Given the description of an element on the screen output the (x, y) to click on. 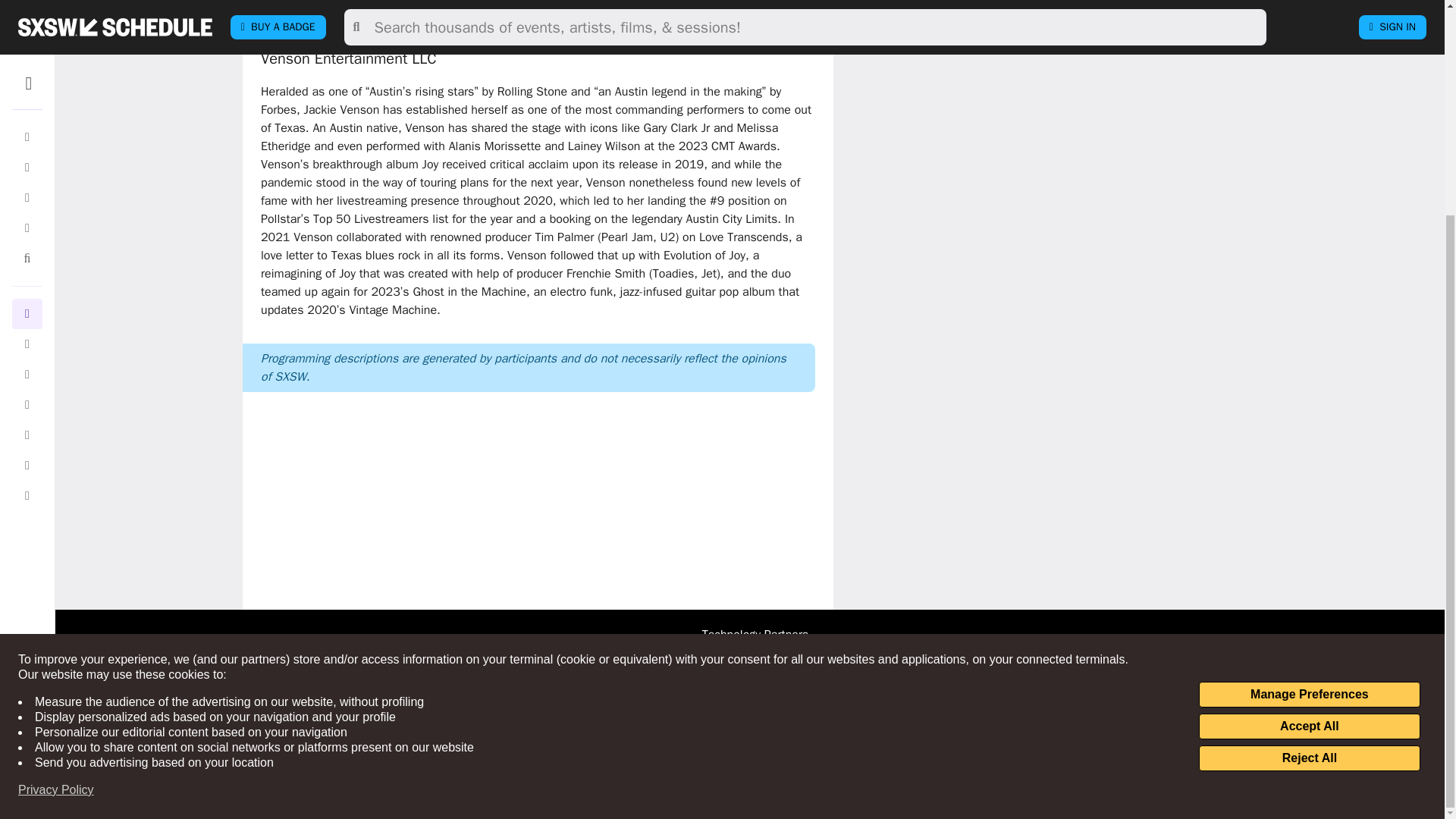
Accept All (1309, 444)
Reject All (1309, 475)
Manage Preferences (1309, 412)
Privacy Policy (55, 507)
